Given the description of an element on the screen output the (x, y) to click on. 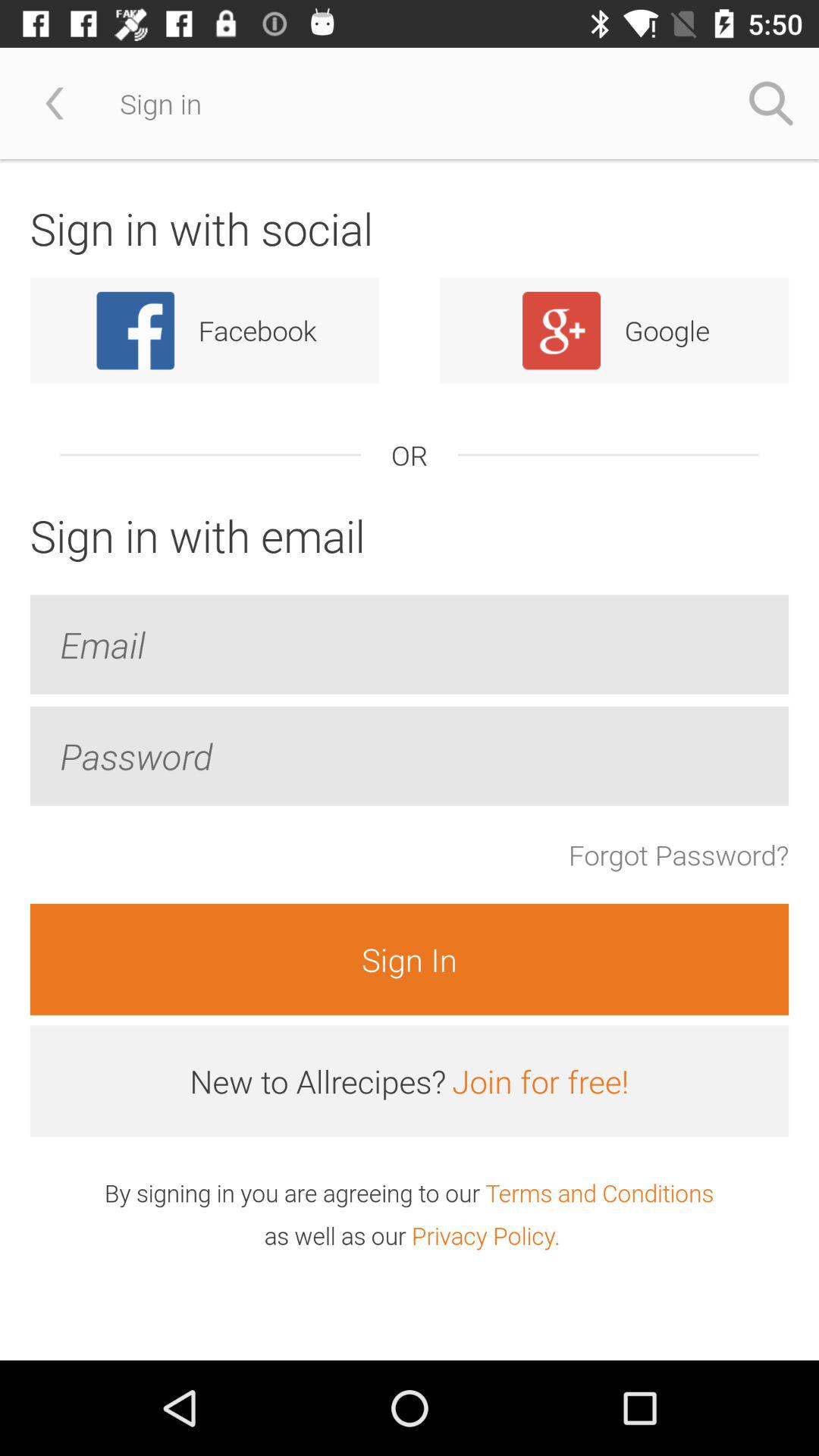
turn off the icon next to the new to allrecipes? icon (540, 1080)
